Given the description of an element on the screen output the (x, y) to click on. 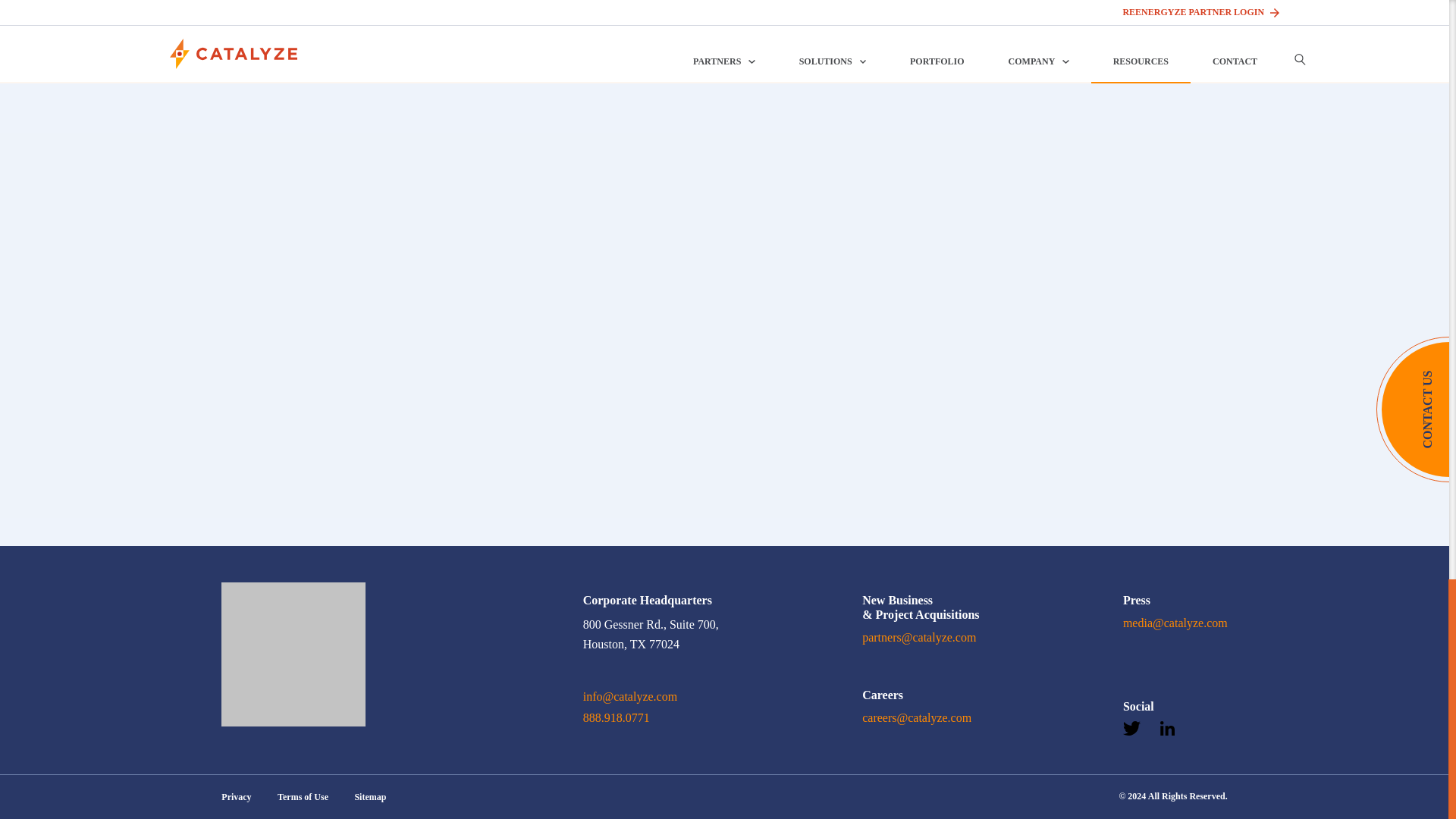
Call us (616, 718)
Find the location on a Google map (651, 634)
Catalyze Privacy Policy (235, 796)
Catalyze Sitemap (369, 796)
Catalyze Terms of Use (303, 796)
